Given the description of an element on the screen output the (x, y) to click on. 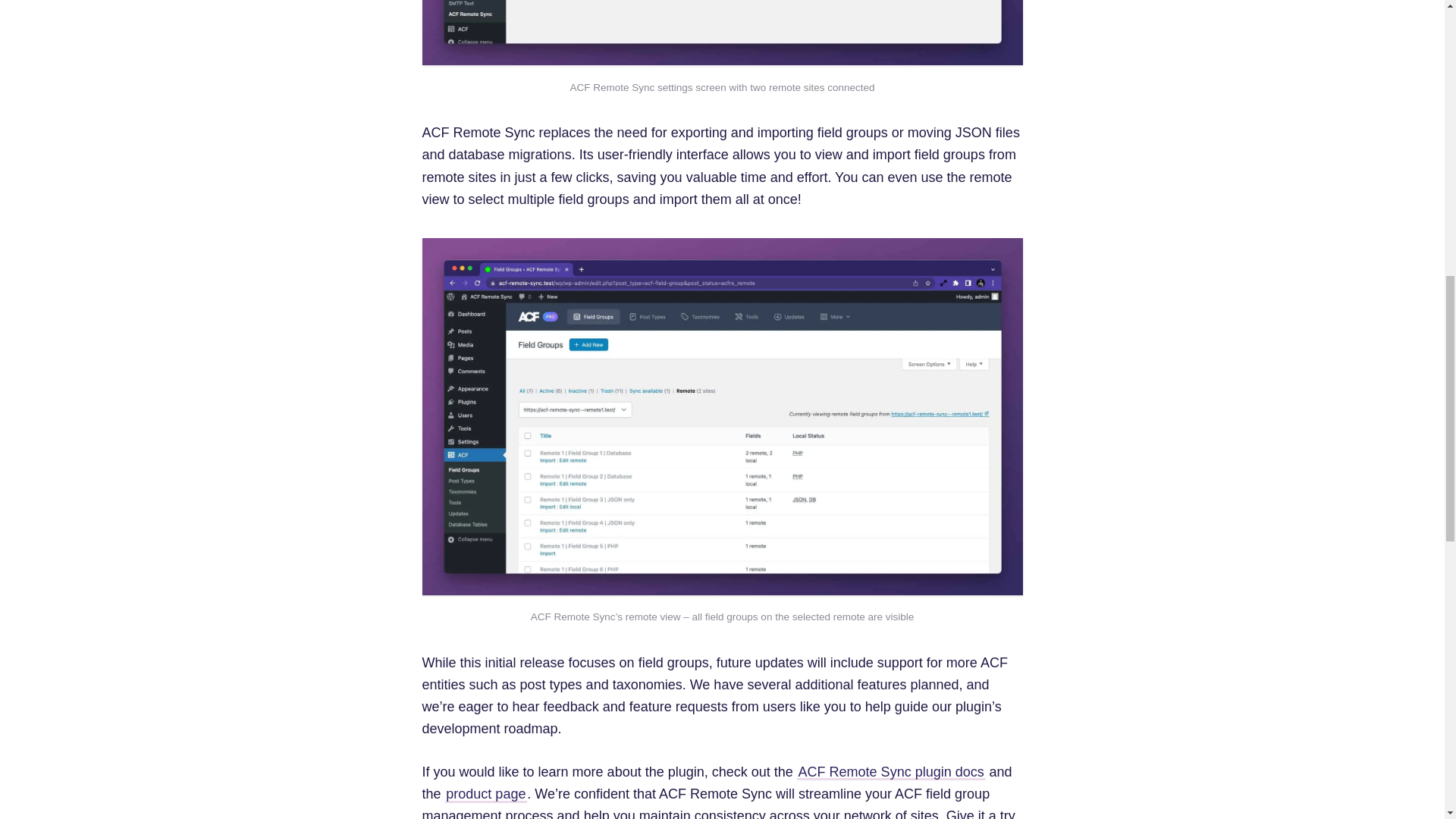
product page (486, 794)
ACF Remote Sync plugin docs (890, 772)
Send me the good stuff! (1312, 361)
